Given the description of an element on the screen output the (x, y) to click on. 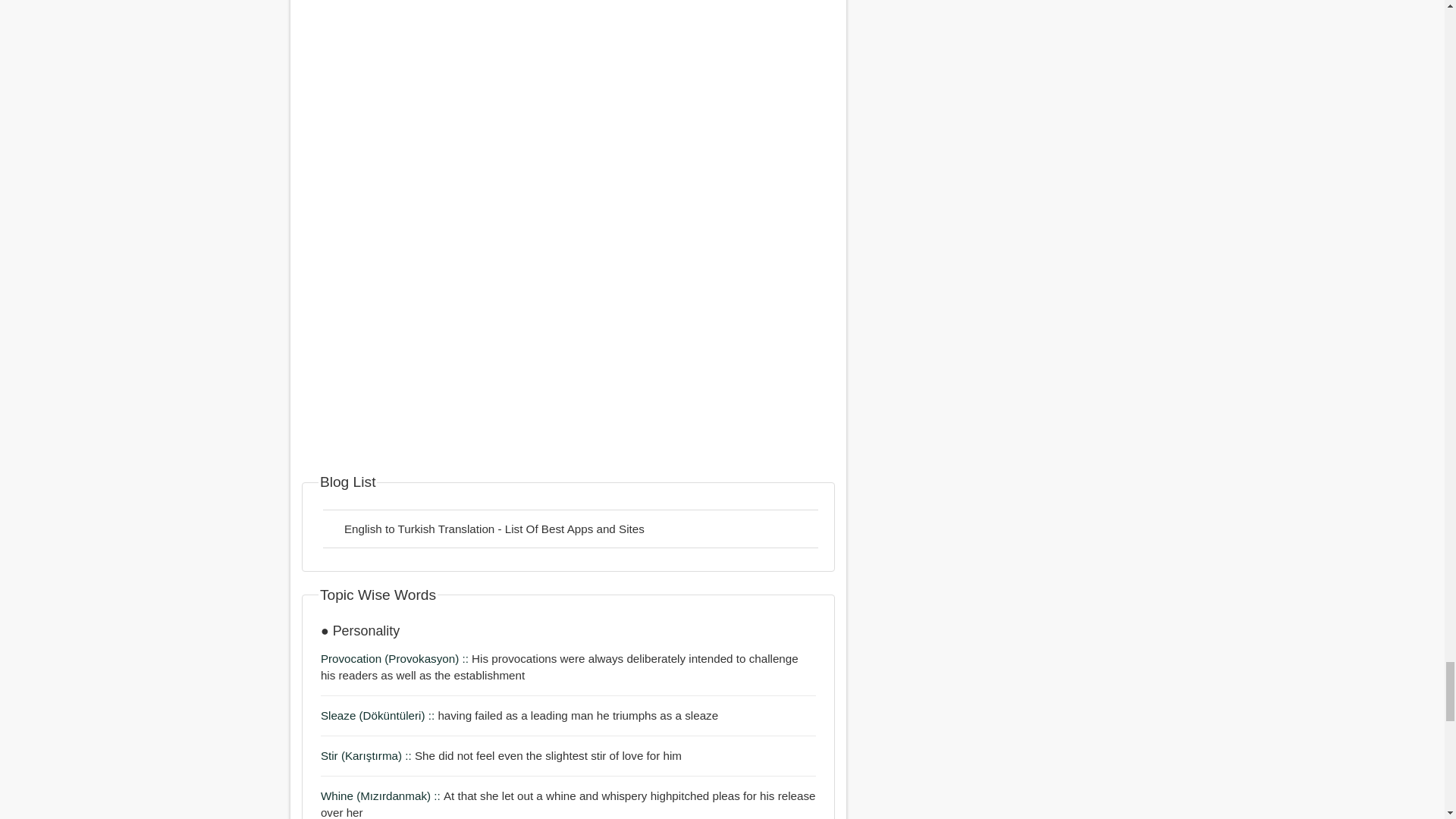
English to Turkish Translation - List Of Best Apps and Sites (570, 528)
